Given the description of an element on the screen output the (x, y) to click on. 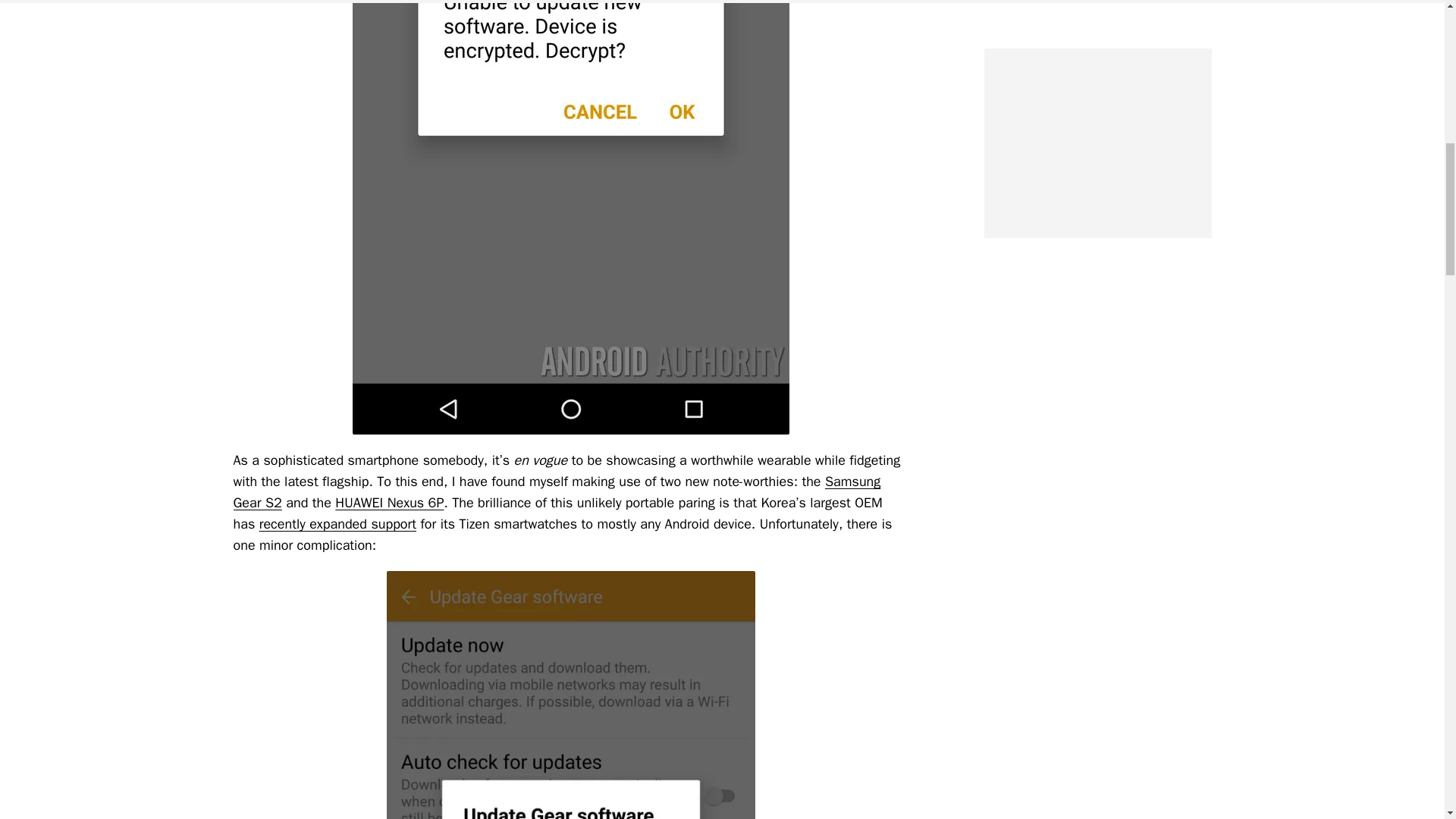
HUAWEI Nexus 6P (389, 502)
Samsung Gear S2 (556, 492)
recently expanded support (337, 523)
